Given the description of an element on the screen output the (x, y) to click on. 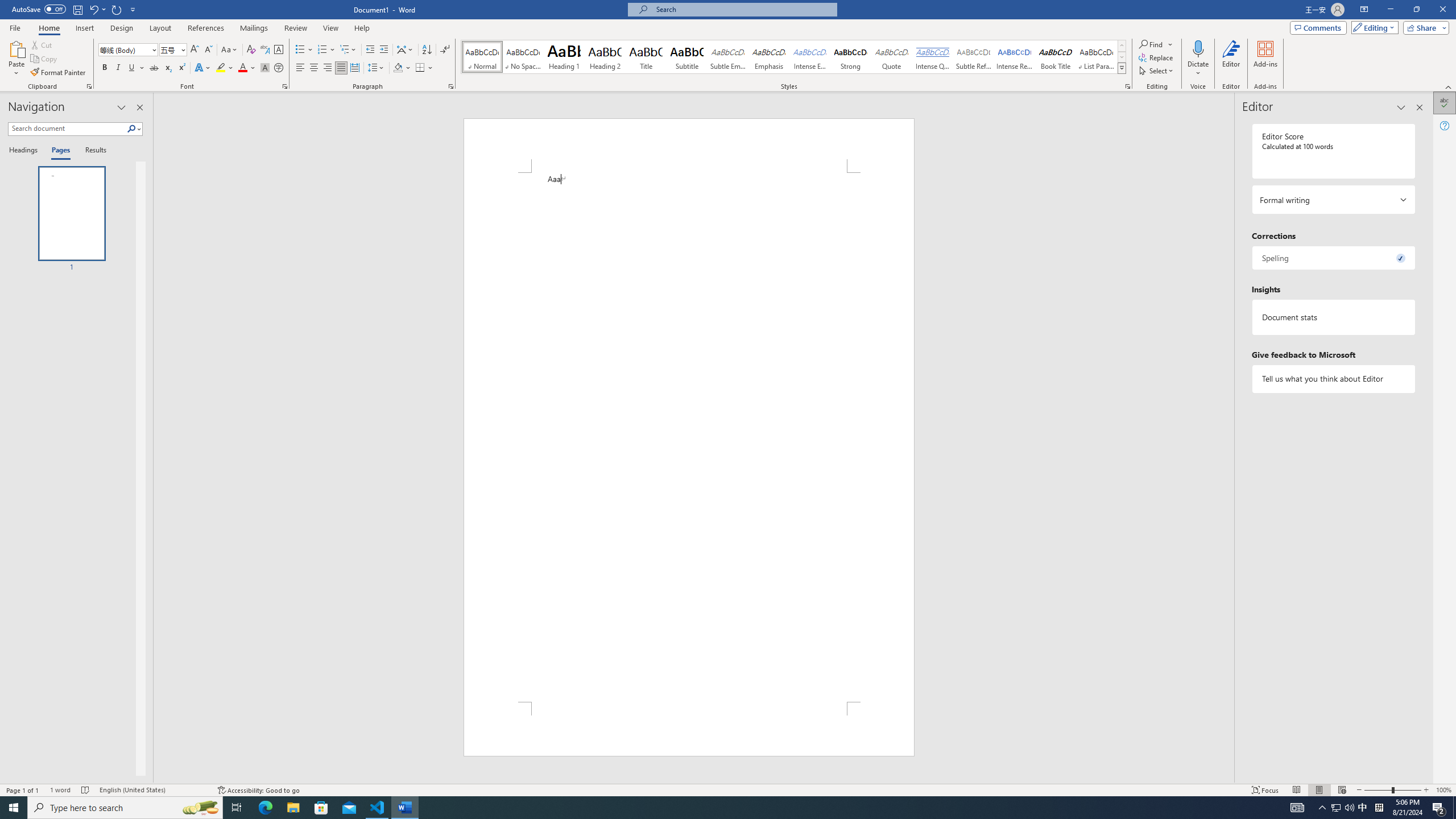
Align Left (300, 67)
Asian Layout (405, 49)
Layout (160, 28)
Editor (1444, 102)
Center (313, 67)
Multilevel List (347, 49)
Book Title (1055, 56)
Class: NetUIImage (1121, 68)
Subtle Emphasis (727, 56)
Enclose Characters... (278, 67)
Font... (285, 85)
Character Border (278, 49)
Clear Formatting (250, 49)
